Given the description of an element on the screen output the (x, y) to click on. 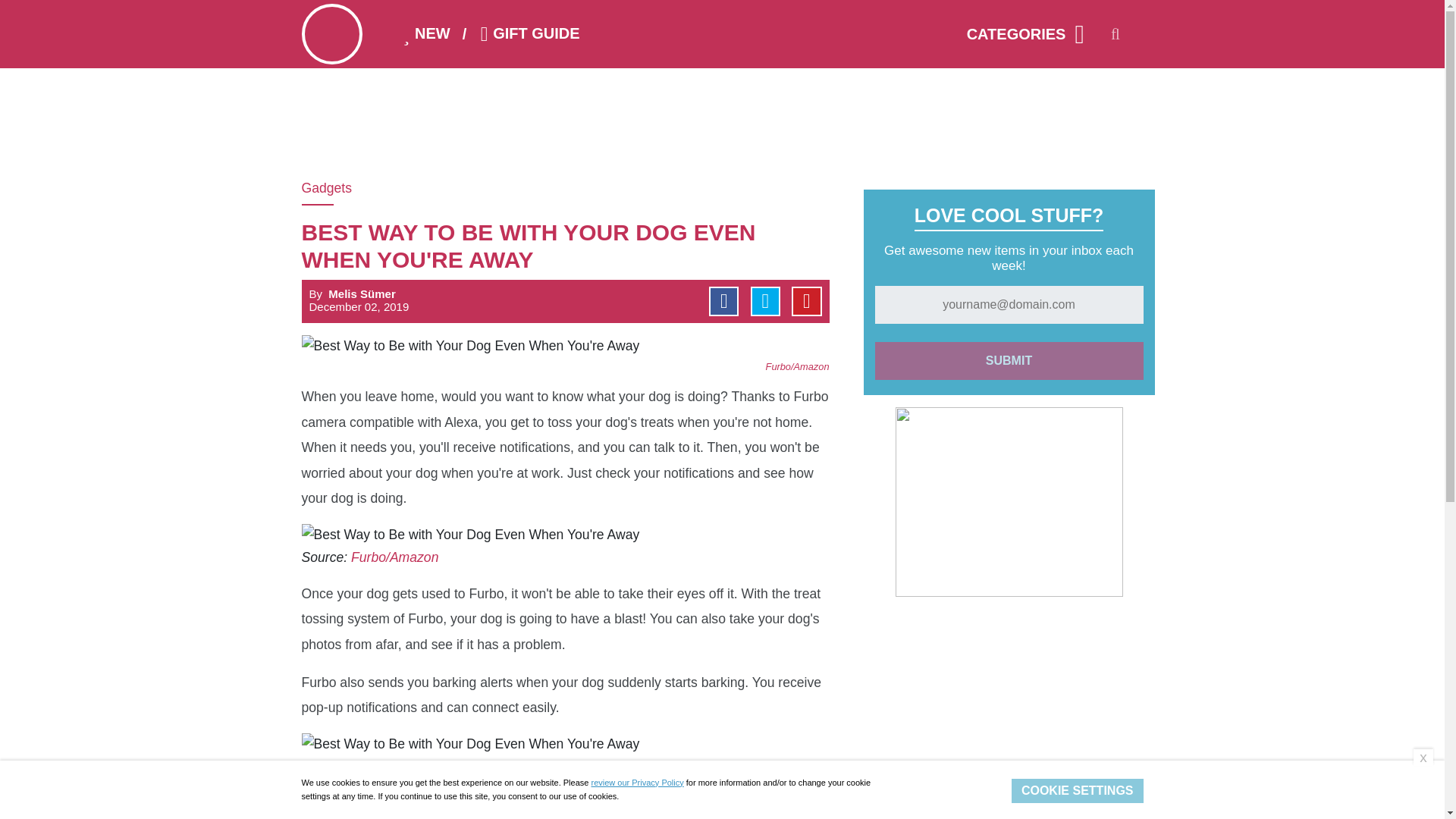
Submit (1008, 361)
CATEGORIES (1017, 34)
 GIFT GUIDE (526, 33)
 NEW (423, 33)
Submit (1008, 361)
Gadgets (342, 188)
